Given the description of an element on the screen output the (x, y) to click on. 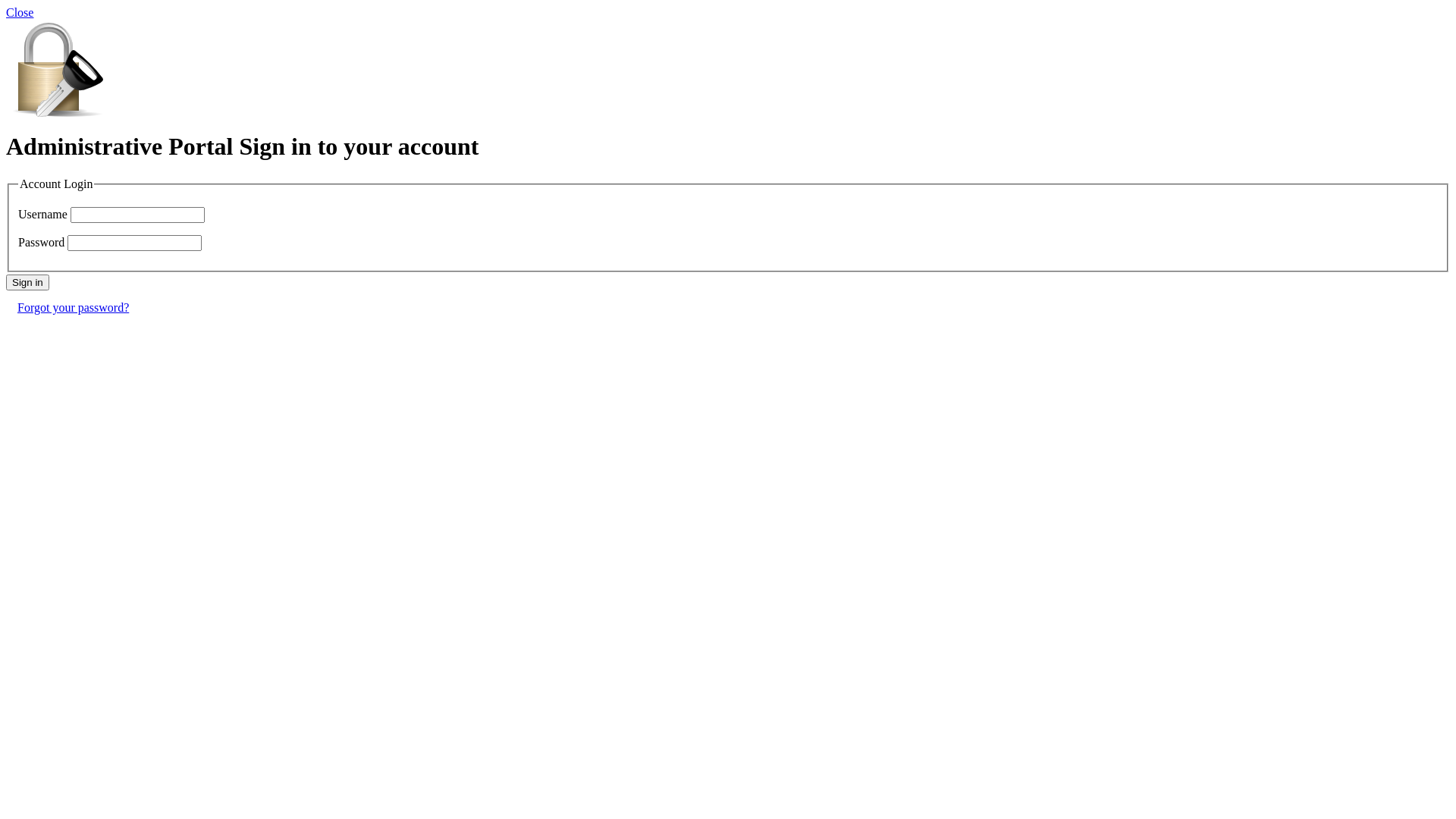
Close Element type: text (19, 12)
Sign in Element type: text (27, 282)
Forgot your password? Element type: text (72, 307)
